Given the description of an element on the screen output the (x, y) to click on. 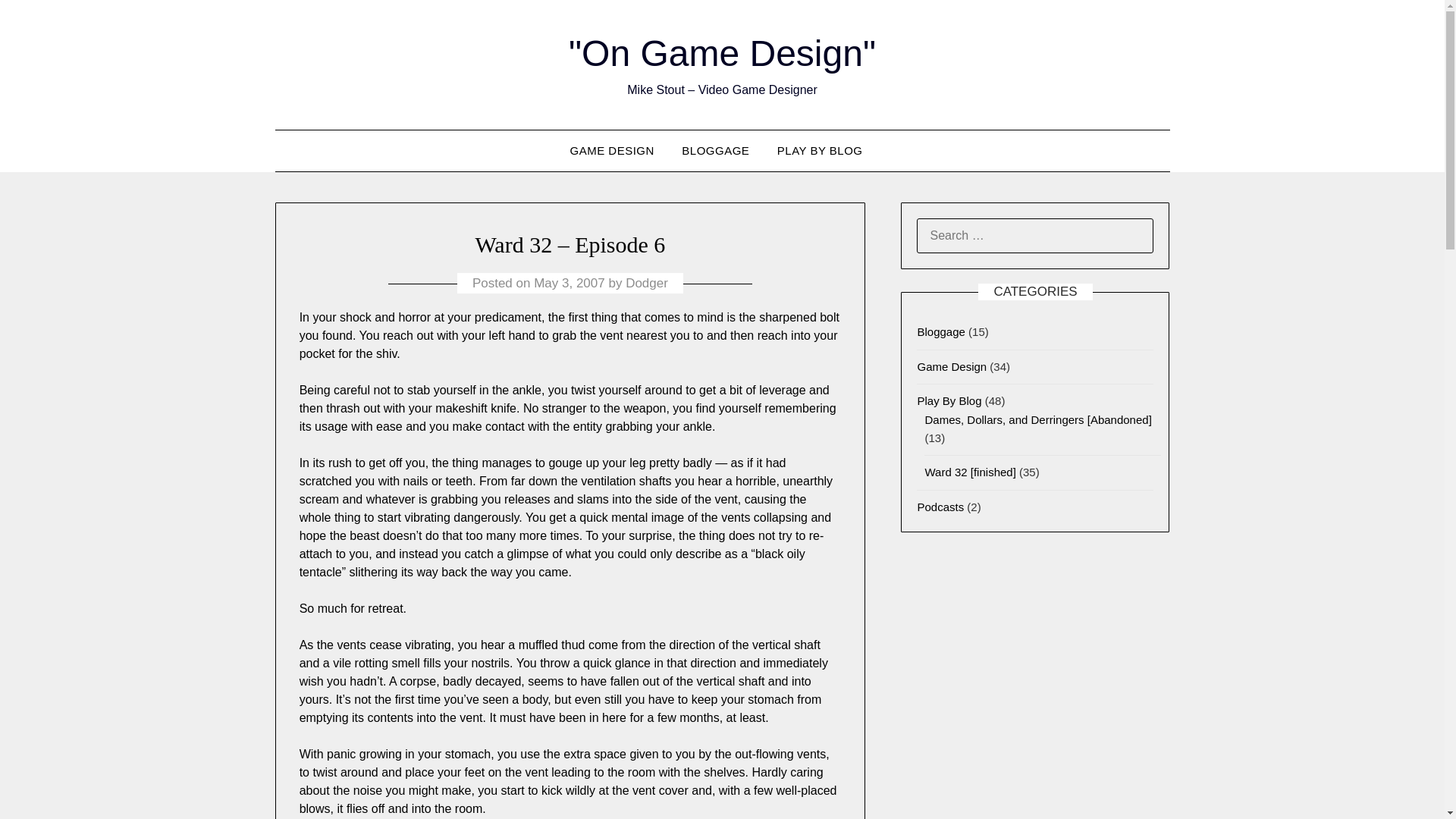
Game Design (952, 366)
PLAY BY BLOG (820, 150)
Search (38, 22)
Play By Blog (949, 400)
Dodger (647, 283)
BLOGGAGE (715, 150)
GAME DESIGN (617, 150)
May 3, 2007 (569, 283)
Bloggage (940, 331)
Podcasts (940, 506)
"On Game Design" (722, 53)
